Given the description of an element on the screen output the (x, y) to click on. 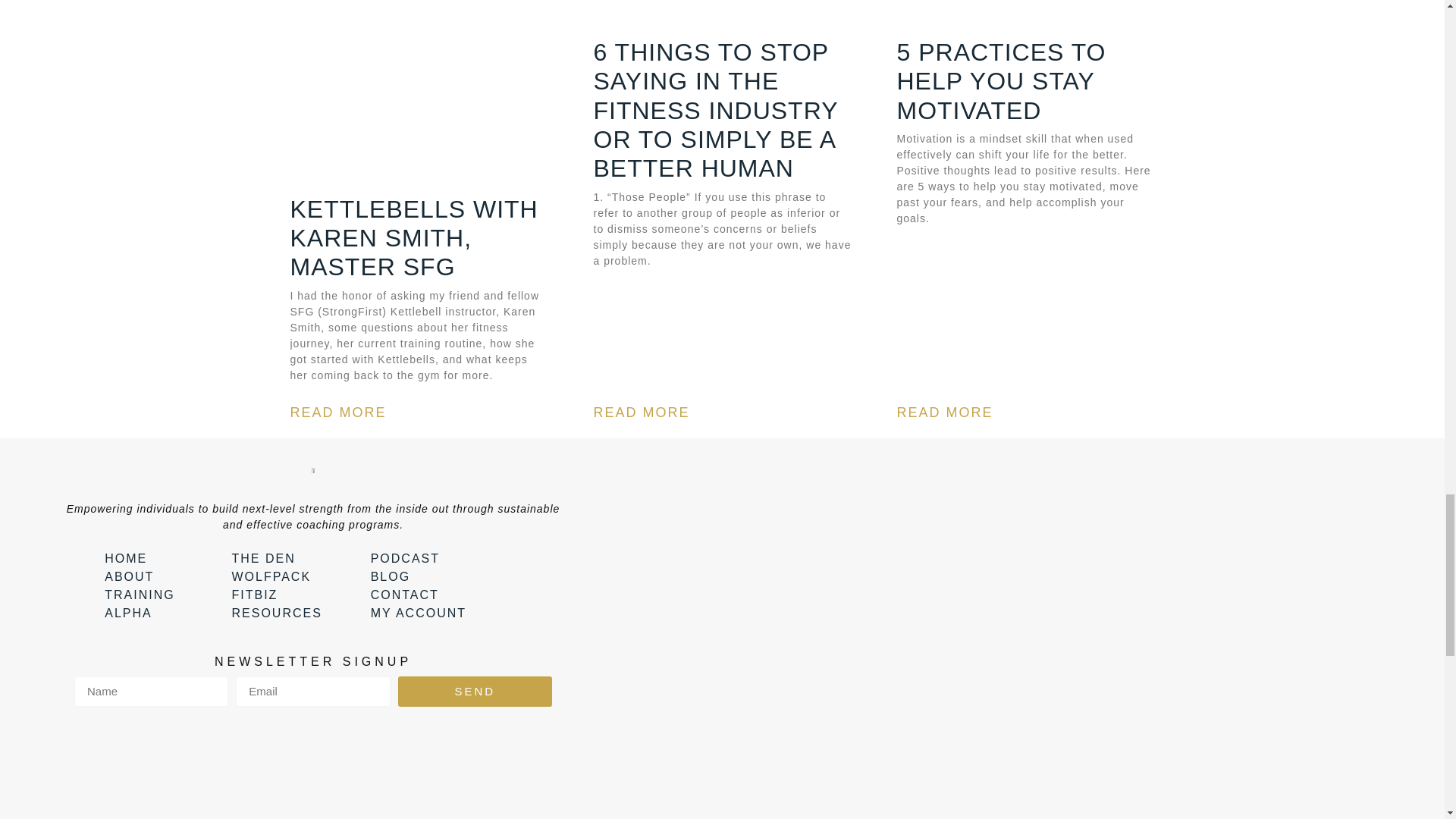
WOLFPACK (293, 577)
5 PRACTICES TO HELP YOU STAY MOTIVATED (1000, 81)
HOME (159, 558)
ALPHA (159, 613)
READ MORE (944, 412)
READ MORE (337, 412)
FITBIZ (293, 595)
ABOUT (159, 577)
READ MORE (640, 412)
THE DEN (293, 558)
